Given the description of an element on the screen output the (x, y) to click on. 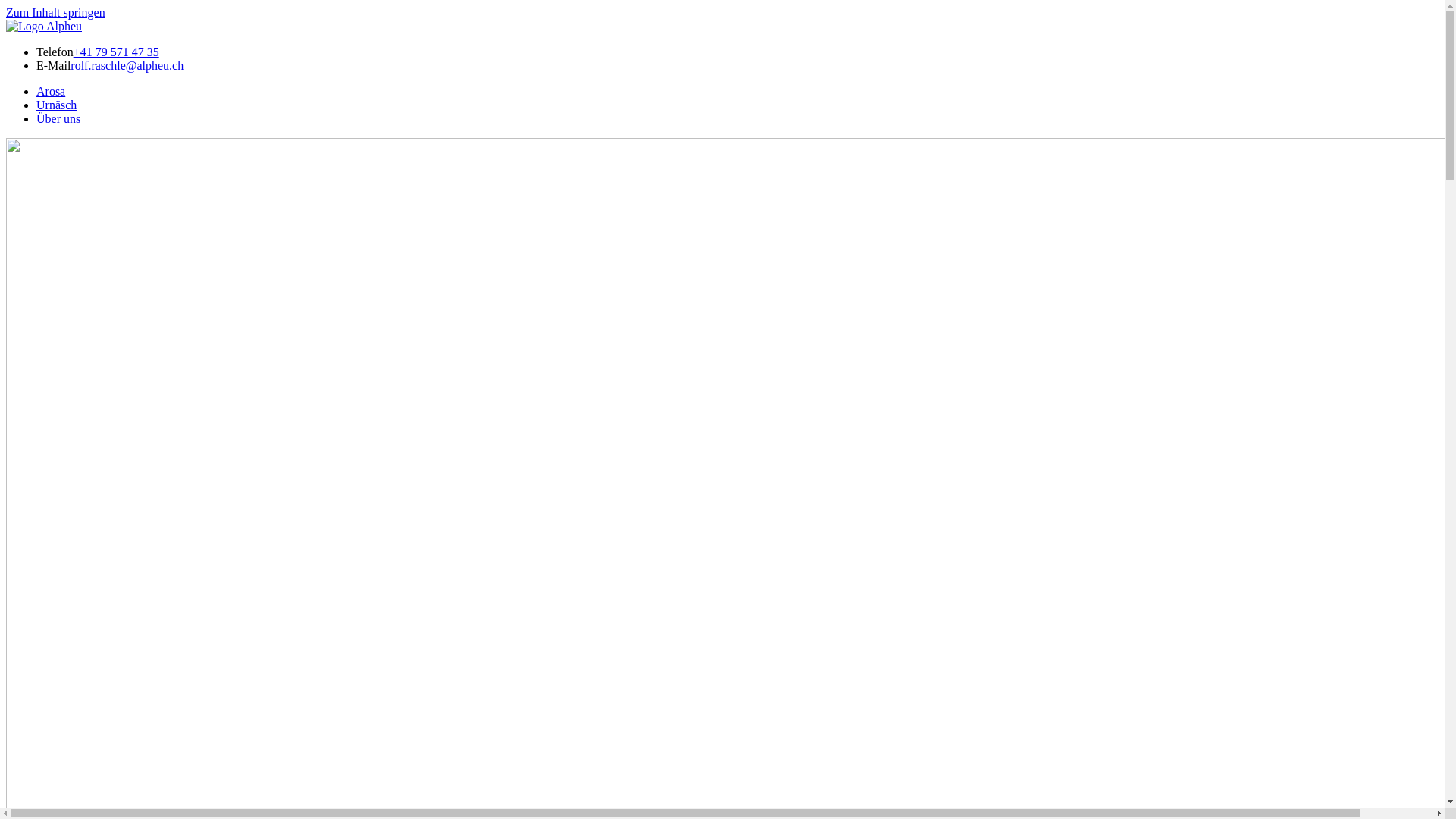
Arosa Element type: text (50, 90)
Zum Inhalt springen Element type: text (55, 12)
+41 79 571 47 35 Element type: text (116, 51)
rolf.raschle@alpheu.ch Element type: text (126, 65)
